Given the description of an element on the screen output the (x, y) to click on. 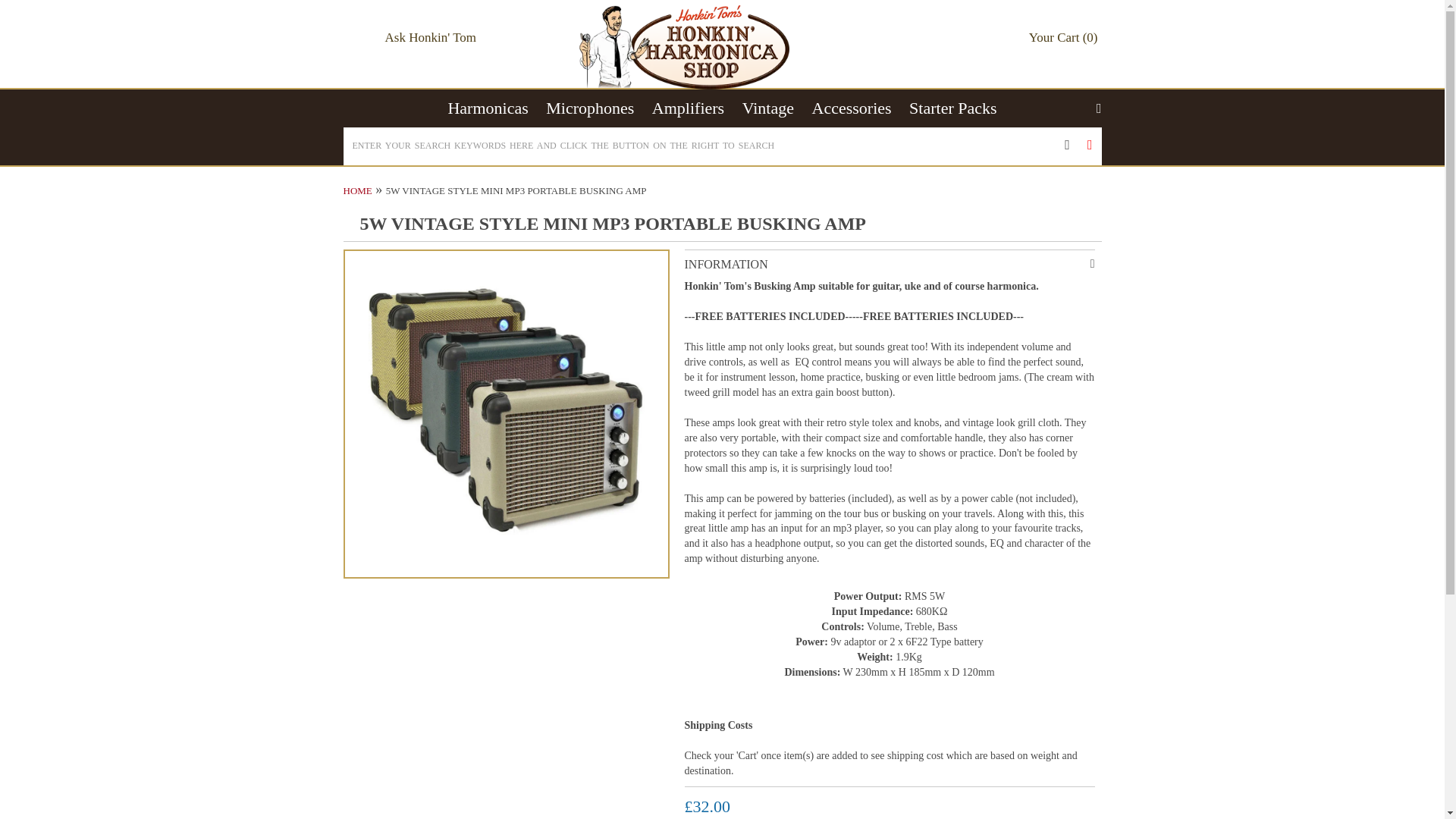
Microphones (589, 108)
Amplifiers (687, 108)
Accessories (850, 108)
Ask Honkin' Tom (430, 37)
HOME (356, 190)
Starter Packs (951, 108)
Harmonicas (486, 108)
Vintage (767, 108)
